Given the description of an element on the screen output the (x, y) to click on. 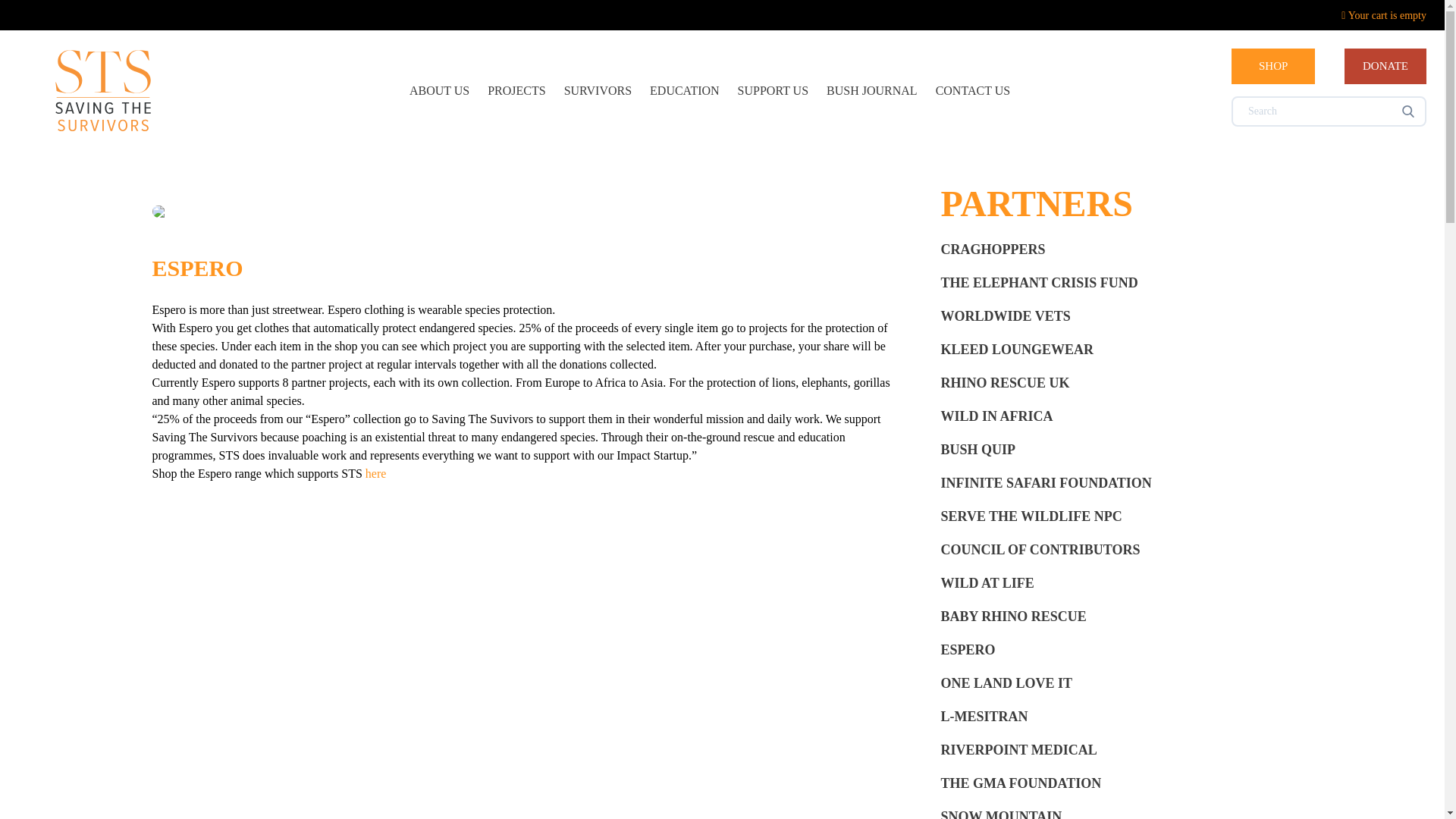
CRAGHOPPERS (1109, 249)
Your cart is empty (1383, 15)
ABOUT US (438, 91)
PROJECTS (515, 91)
SHOP (1272, 66)
here (376, 473)
BUSH JOURNAL (872, 91)
CONTACT US (973, 91)
EDUCATION (684, 91)
SUPPORT US (773, 91)
